Given the description of an element on the screen output the (x, y) to click on. 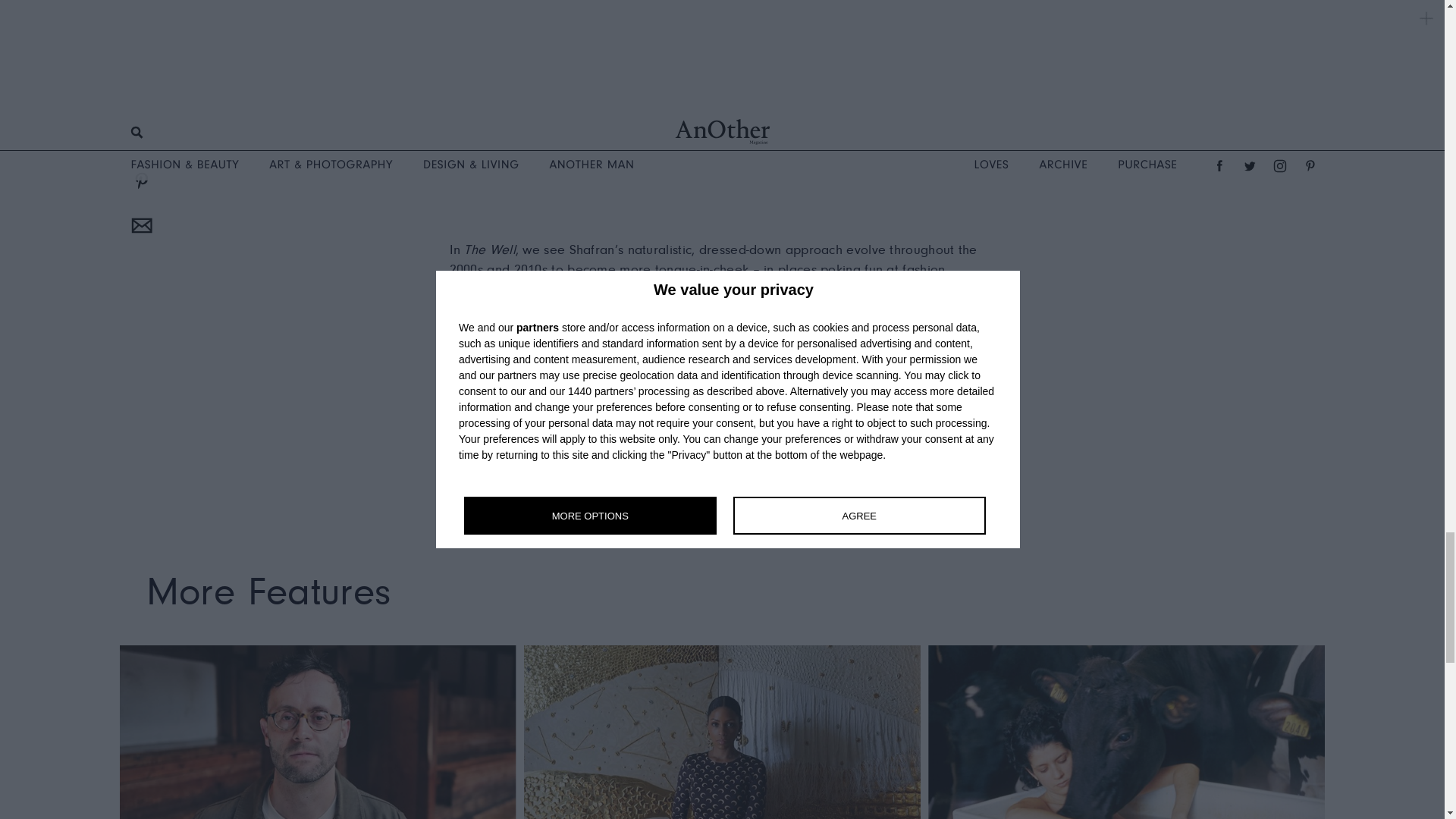
The Well (473, 423)
